Given the description of an element on the screen output the (x, y) to click on. 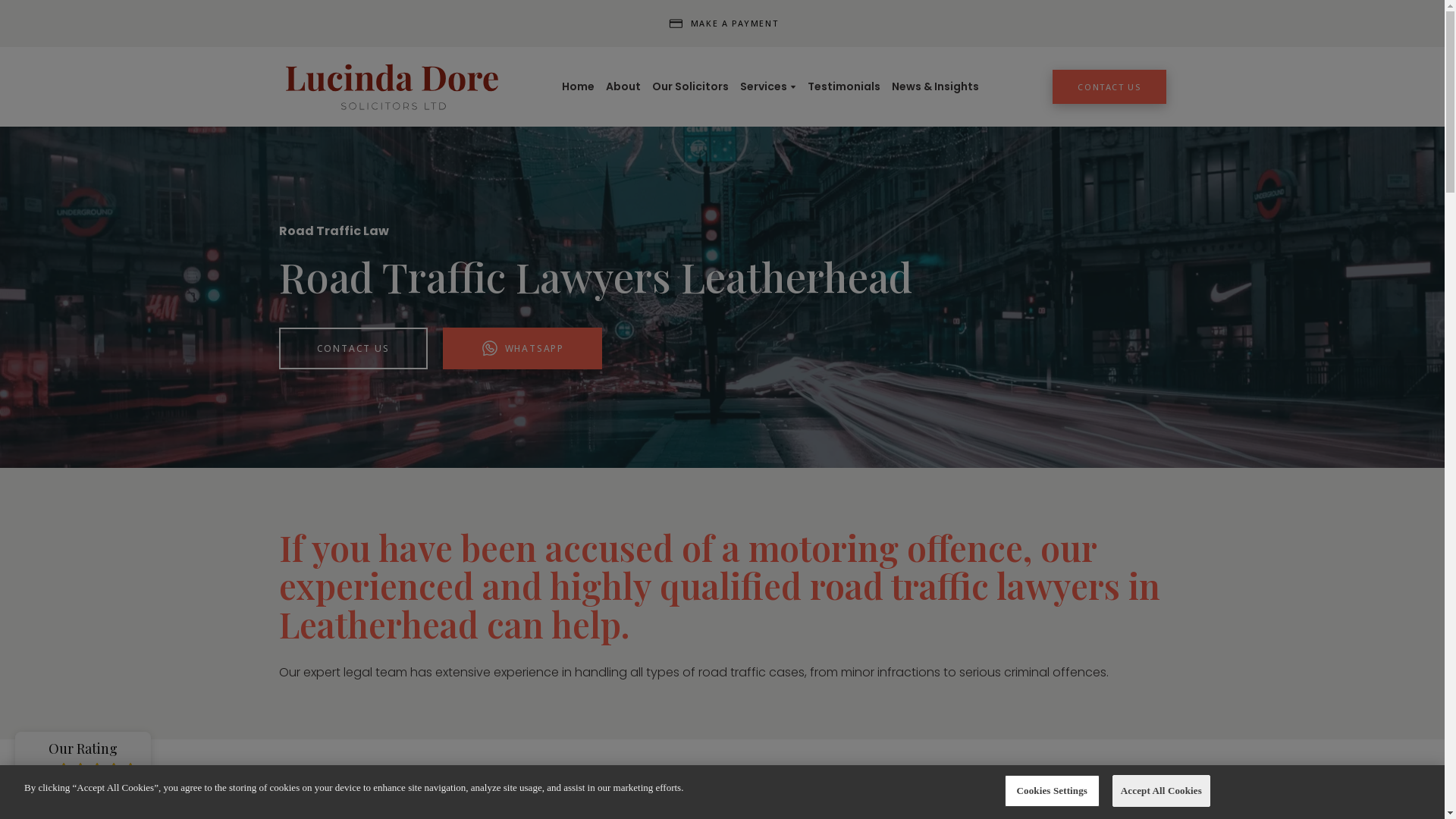
About (622, 86)
Our Solicitors (690, 86)
Home (578, 86)
Testimonials (844, 86)
MAKE A PAYMENT (722, 23)
Services (763, 86)
CONTACT US (1109, 86)
